Given the description of an element on the screen output the (x, y) to click on. 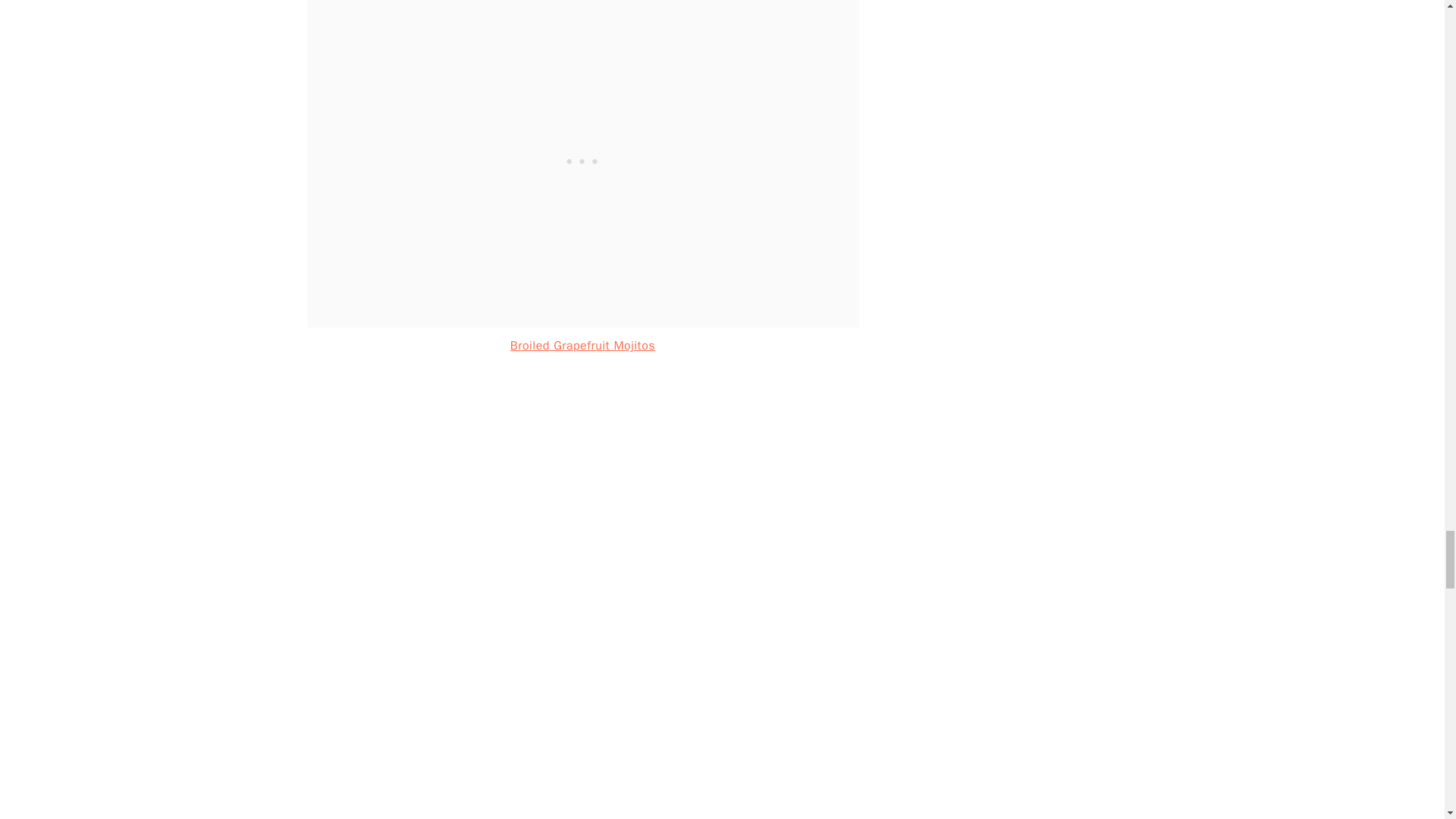
Broiled Grapefruit Mojitos (583, 345)
